Given the description of an element on the screen output the (x, y) to click on. 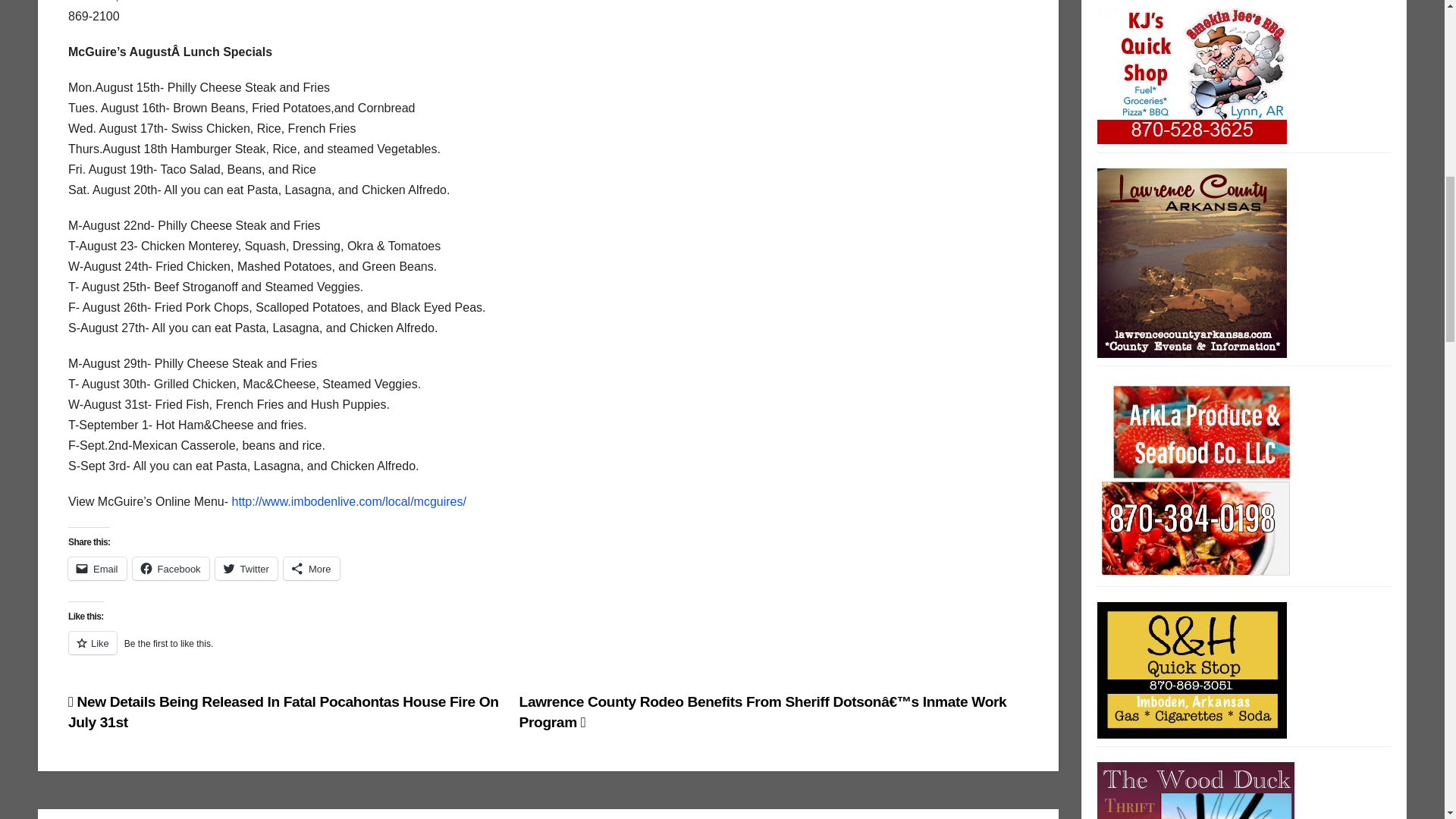
Click to share on Facebook (170, 568)
Like or Reblog (547, 651)
Click to email a link to a friend (97, 568)
Click to share on Twitter (246, 568)
